Given the description of an element on the screen output the (x, y) to click on. 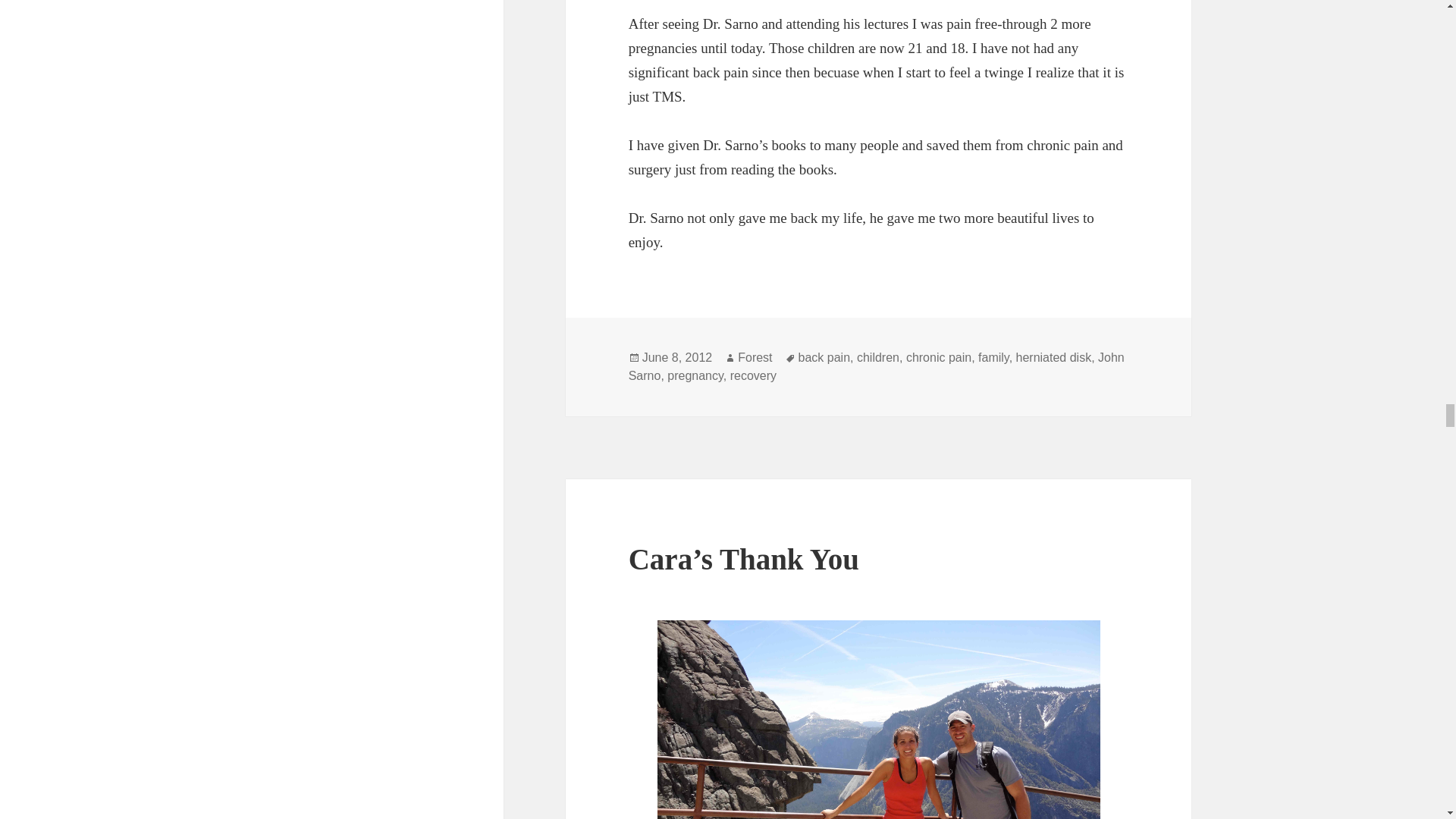
Cara's Picture (879, 719)
